Given the description of an element on the screen output the (x, y) to click on. 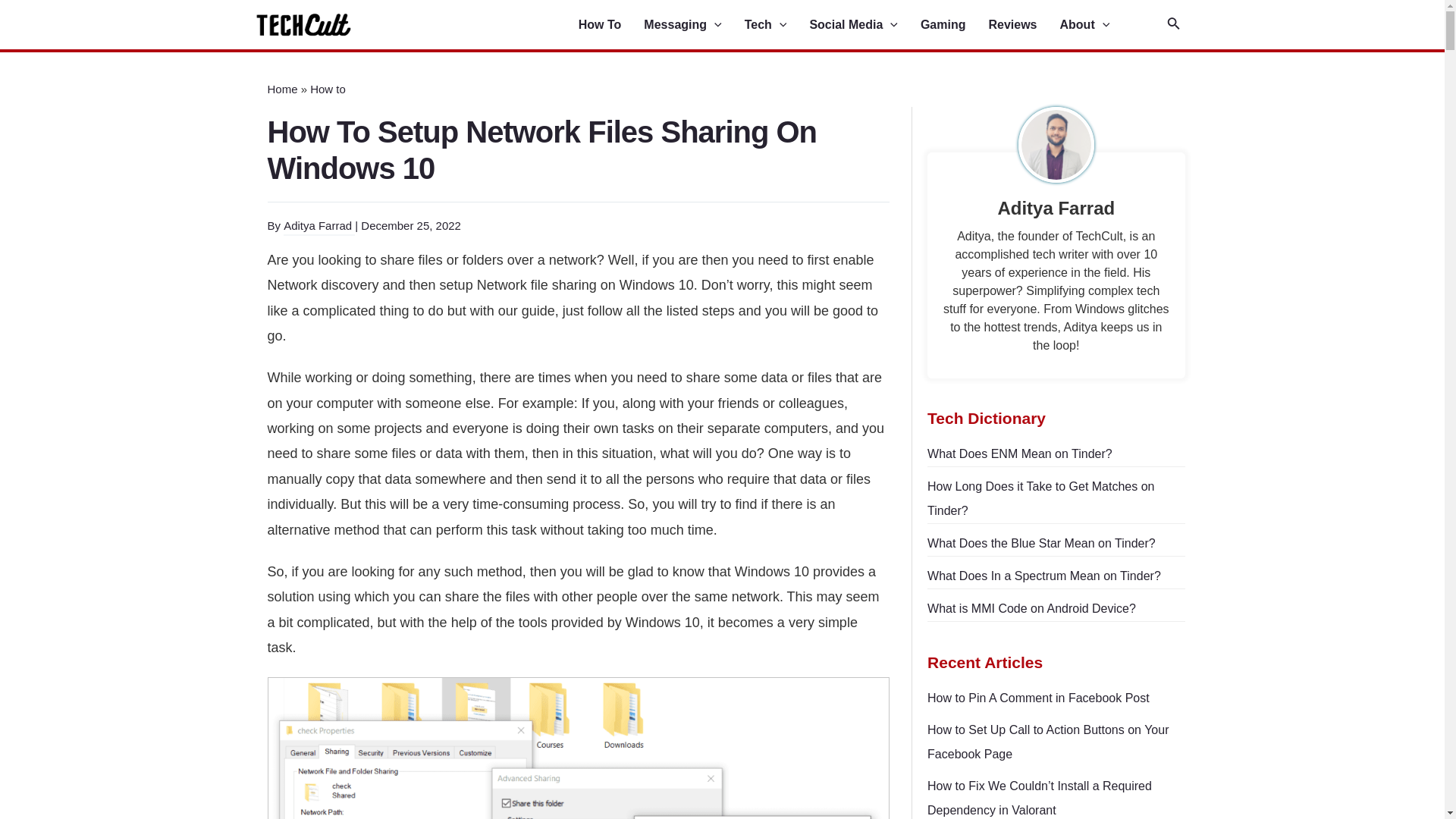
Gaming (954, 25)
View all posts by Aditya Farrad (319, 226)
About (1095, 25)
Home (281, 88)
Social Media (864, 25)
Tech (776, 25)
Reviews (1023, 25)
Messaging (693, 25)
How To (611, 25)
